Given the description of an element on the screen output the (x, y) to click on. 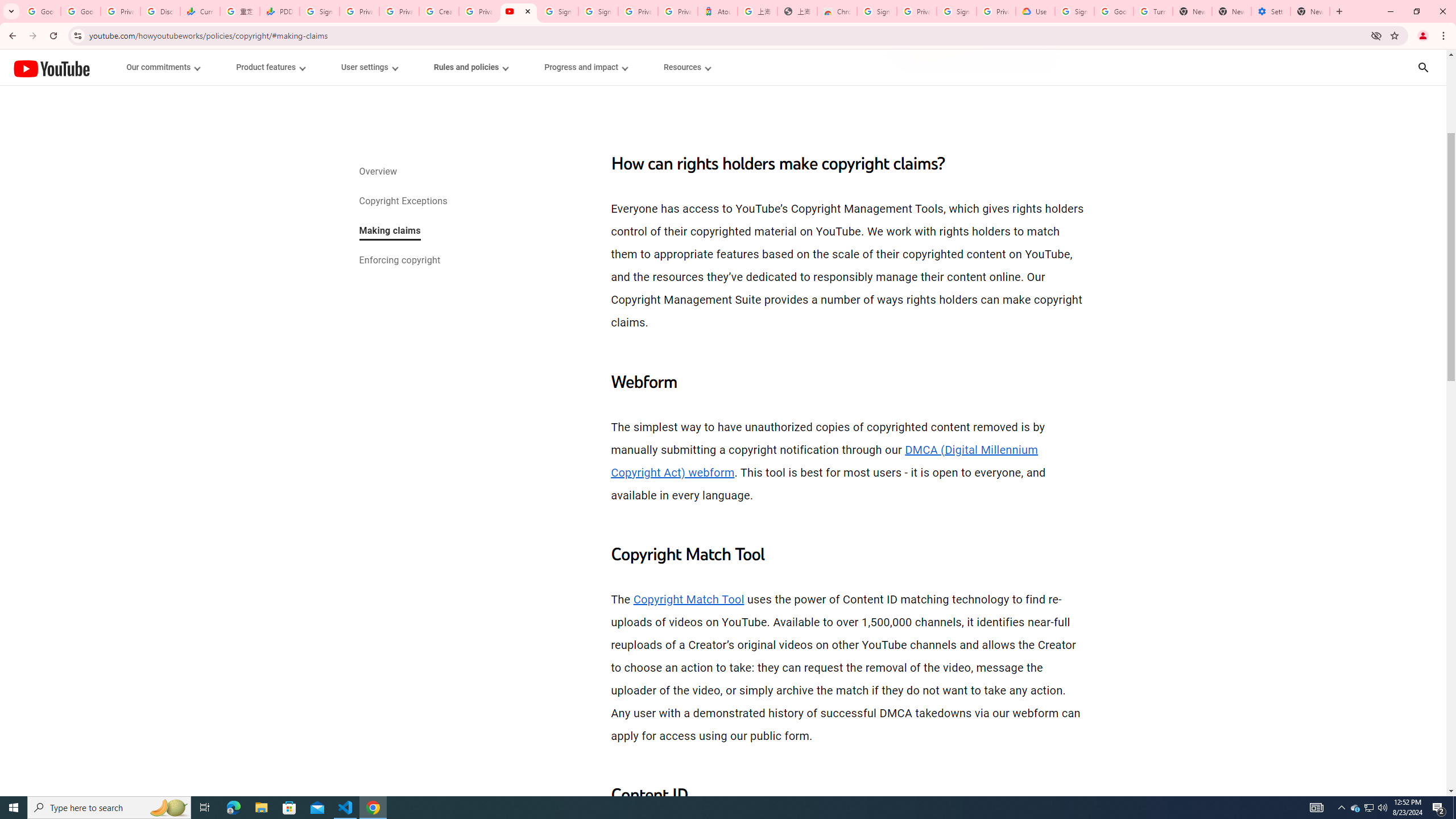
Privacy Checkup (398, 11)
Sign in - Google Accounts (876, 11)
Search tabs (10, 11)
New Tab (1310, 11)
Product features menupopup (269, 67)
Google Account Help (1113, 11)
System (6, 6)
YouTube Copyright Rules & Policies - How YouTube Works (518, 11)
Google Workspace Admin Community (40, 11)
New Tab (1338, 11)
Chrome Web Store - Color themes by Chrome (836, 11)
Copyright Match Tool (688, 599)
